Given the description of an element on the screen output the (x, y) to click on. 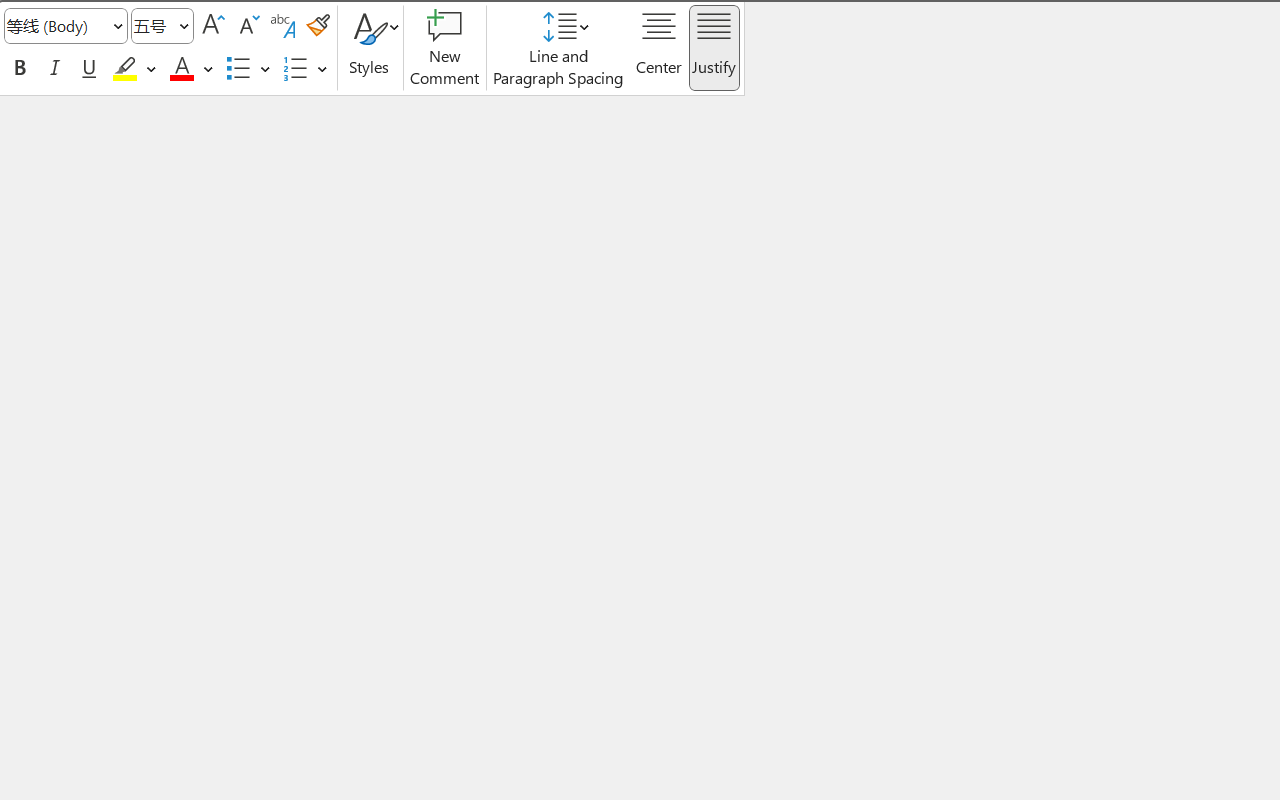
Keep Source Formatting (71, 203)
Merge Formatting (115, 203)
Keep Text Only (159, 203)
